Given the description of an element on the screen output the (x, y) to click on. 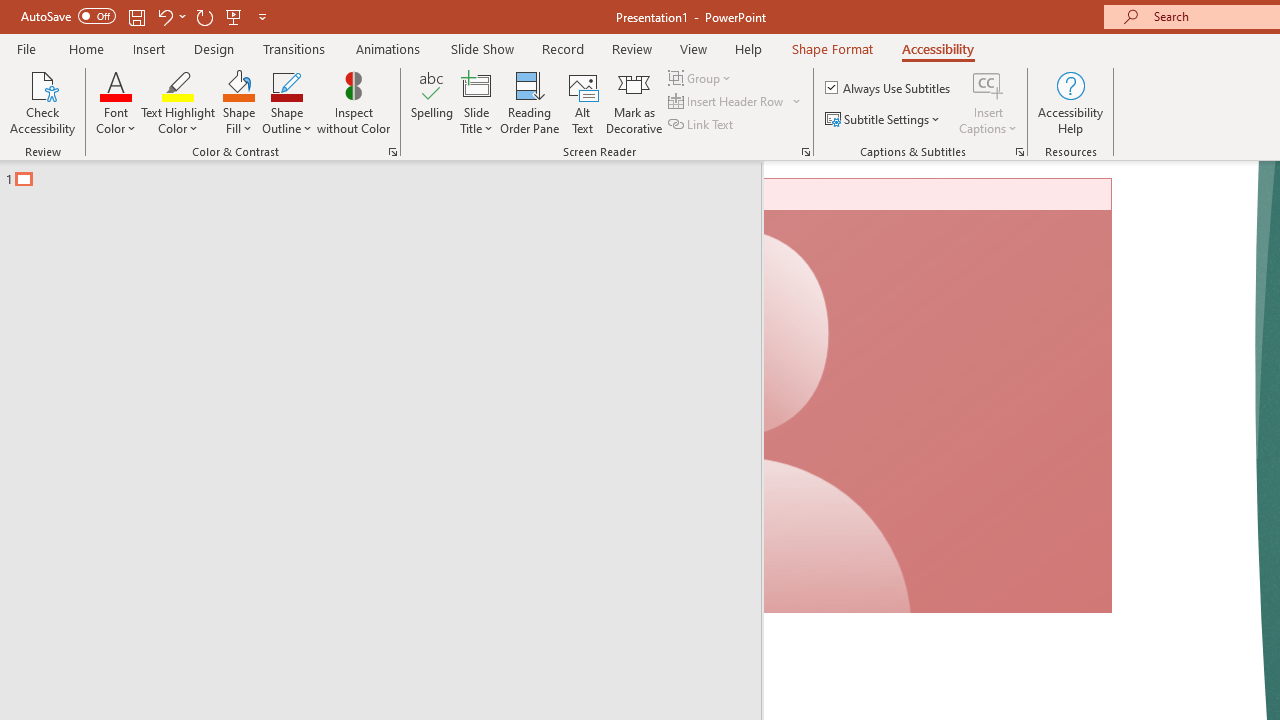
Open (399, 137)
Font Size (372, 137)
Font... (675, 226)
Layout (584, 84)
Grow Font (430, 137)
Enclose Characters... (656, 180)
Multilevel List (850, 137)
Text Highlight Color Yellow (495, 180)
Shrink Font (468, 137)
Numbering (778, 137)
Borders (1055, 180)
Customize Quick Access Toolbar (384, 32)
Center (756, 180)
Cut (112, 126)
